Given the description of an element on the screen output the (x, y) to click on. 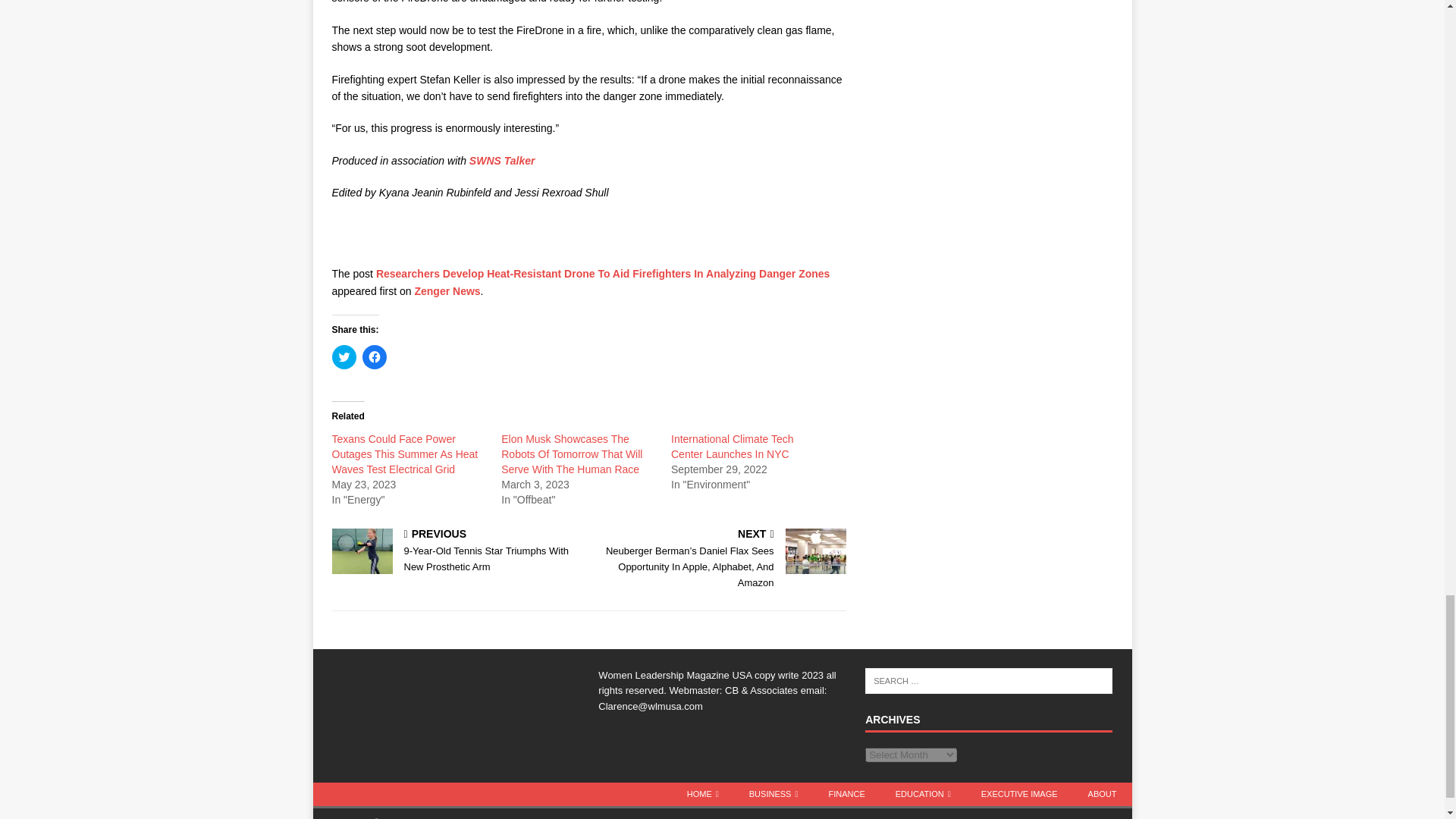
Click to share on Twitter (343, 356)
International Climate Tech Center Launches In NYC (732, 446)
Click to share on Facebook (374, 356)
